Given the description of an element on the screen output the (x, y) to click on. 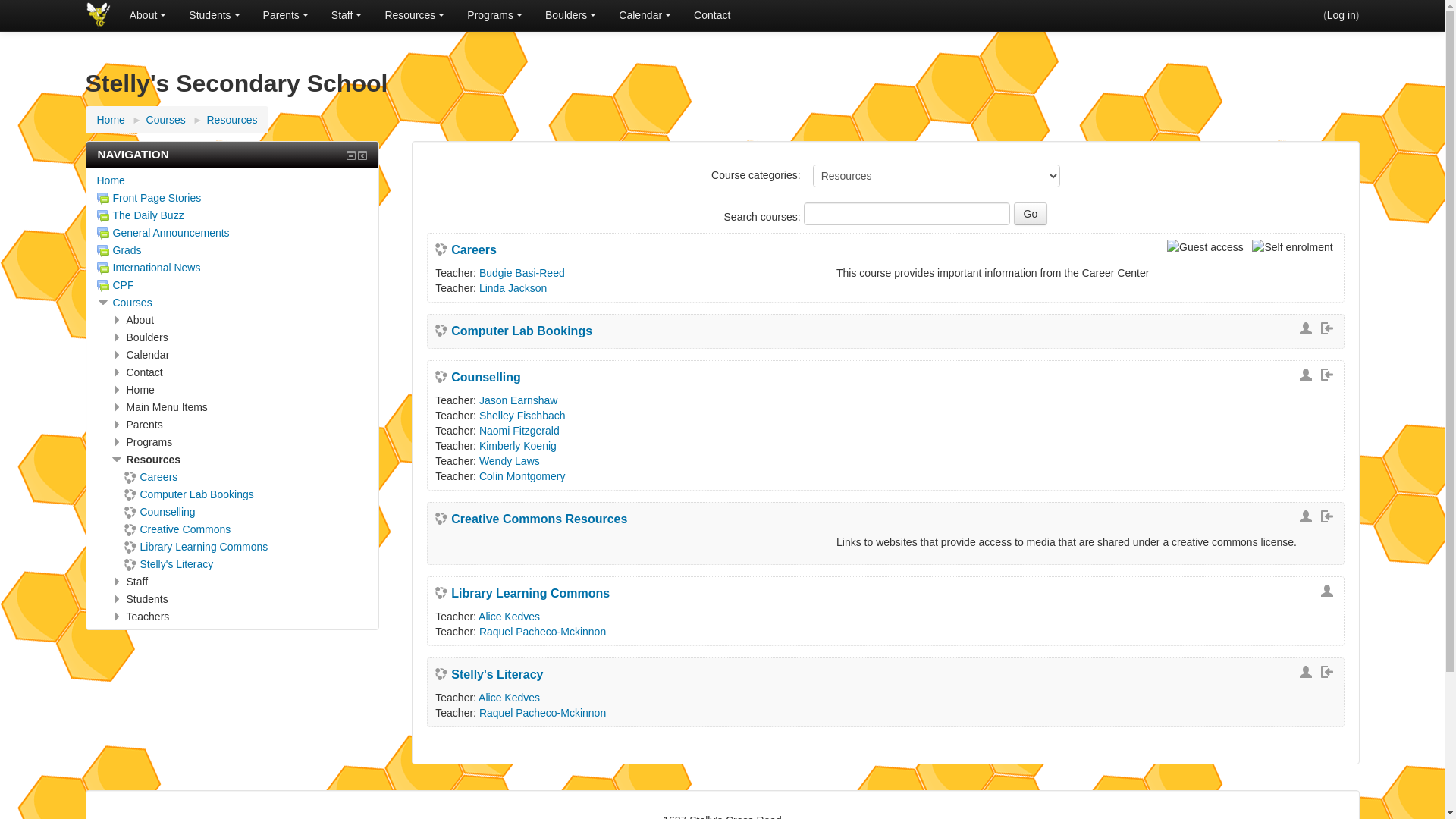
Hide Navigation block Element type: hover (350, 155)
Guest access Element type: hover (1307, 516)
Shelley Fischbach Element type: text (522, 415)
Computer Lab Bookings Element type: text (513, 331)
Forum Element type: hover (103, 216)
Forum Element type: hover (103, 268)
Grads Element type: text (119, 250)
CPF Element type: text (115, 285)
Jason Earnshaw Element type: text (518, 400)
Resources Element type: text (231, 119)
Wendy Laws Element type: text (509, 461)
Counselling Element type: text (477, 377)
Budgie Basi-Reed Element type: text (521, 272)
Staff Element type: text (346, 15)
About Element type: text (148, 15)
Resources Element type: text (414, 15)
Forum Element type: hover (103, 250)
Raquel Pacheco-Mckinnon Element type: text (542, 712)
Self enrolment Element type: hover (1294, 246)
Naomi Fitzgerald Element type: text (519, 430)
Computer Lab Bookings Element type: text (189, 494)
Kimberly Koenig Element type: text (517, 445)
Linda Jackson Element type: text (513, 288)
Forum Element type: hover (103, 285)
Home Element type: text (111, 119)
Courses Element type: text (165, 119)
Programs Element type: text (494, 15)
International News Element type: text (148, 267)
Log in Element type: text (1341, 15)
Self enrolment Element type: hover (1329, 671)
Stelly's Literacy Element type: text (168, 564)
Go Element type: text (1030, 213)
Stelly's Literacy Element type: text (488, 674)
Courses Element type: text (131, 302)
Guest access Element type: hover (1207, 246)
Self enrolment Element type: hover (1329, 374)
Guest access Element type: hover (1329, 590)
Careers Element type: text (465, 250)
Self enrolment Element type: hover (1329, 516)
Alice Kedves Element type: text (508, 616)
Creative Commons Element type: text (177, 529)
Creative Commons Resources Element type: text (531, 519)
Boulders Element type: text (570, 15)
Library Learning Commons Element type: text (196, 546)
Forum Element type: hover (103, 233)
Guest access Element type: hover (1307, 374)
Counselling Element type: text (159, 511)
General Announcements Element type: text (163, 232)
Guest access Element type: hover (1307, 671)
Library Learning Commons Element type: text (522, 593)
Students Element type: text (214, 15)
Home Element type: text (111, 180)
Front Page Stories Element type: text (149, 197)
Dock Navigation block Element type: hover (362, 155)
Calendar Element type: text (644, 15)
Contact Element type: text (711, 15)
Self enrolment Element type: hover (1329, 328)
The Daily Buzz Element type: text (140, 215)
Colin Montgomery Element type: text (522, 476)
Forum Element type: hover (103, 198)
Guest access Element type: hover (1307, 328)
Parents Element type: text (285, 15)
Careers Element type: text (151, 476)
Raquel Pacheco-Mckinnon Element type: text (542, 631)
Alice Kedves Element type: text (508, 697)
